Given the description of an element on the screen output the (x, y) to click on. 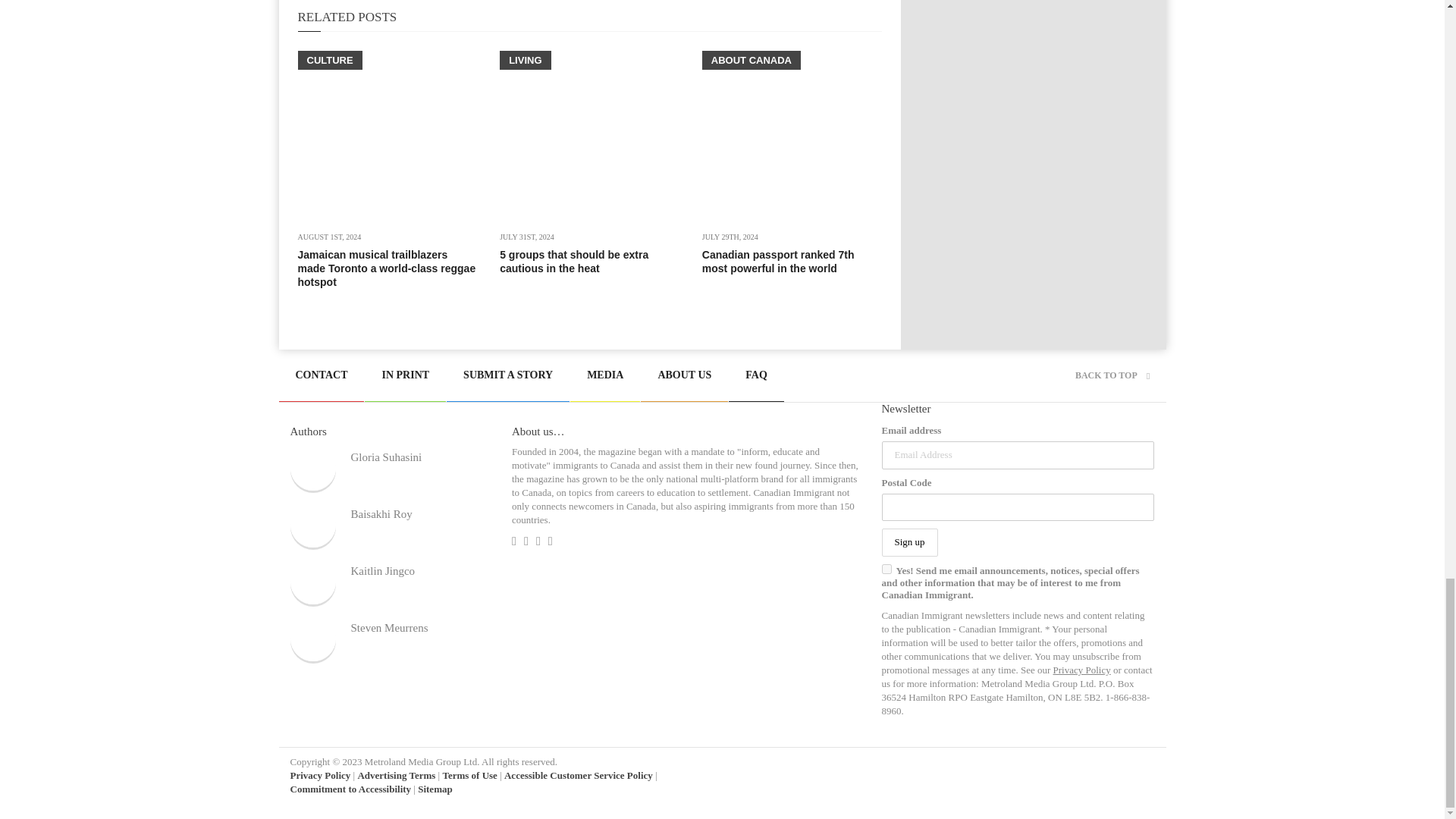
BACK TO TOP (1112, 375)
Sign up (908, 542)
1 (885, 569)
